Given the description of an element on the screen output the (x, y) to click on. 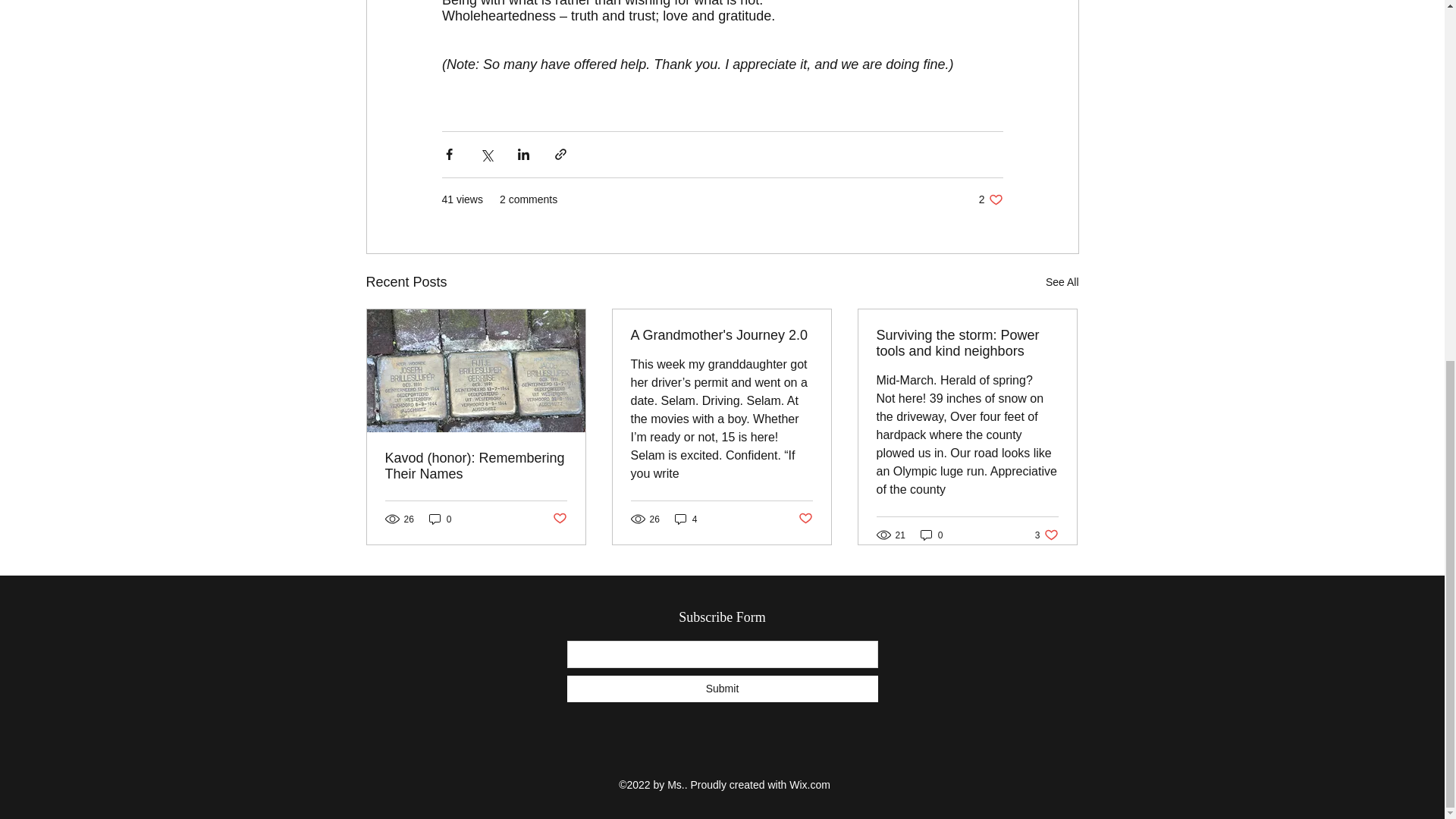
A Grandmother's Journey 2.0 (990, 199)
See All (721, 335)
Post not marked as liked (1061, 282)
Surviving the storm: Power tools and kind neighbors (804, 519)
0 (967, 343)
0 (440, 518)
4 (931, 534)
Post not marked as liked (685, 518)
Submit (558, 519)
